Given the description of an element on the screen output the (x, y) to click on. 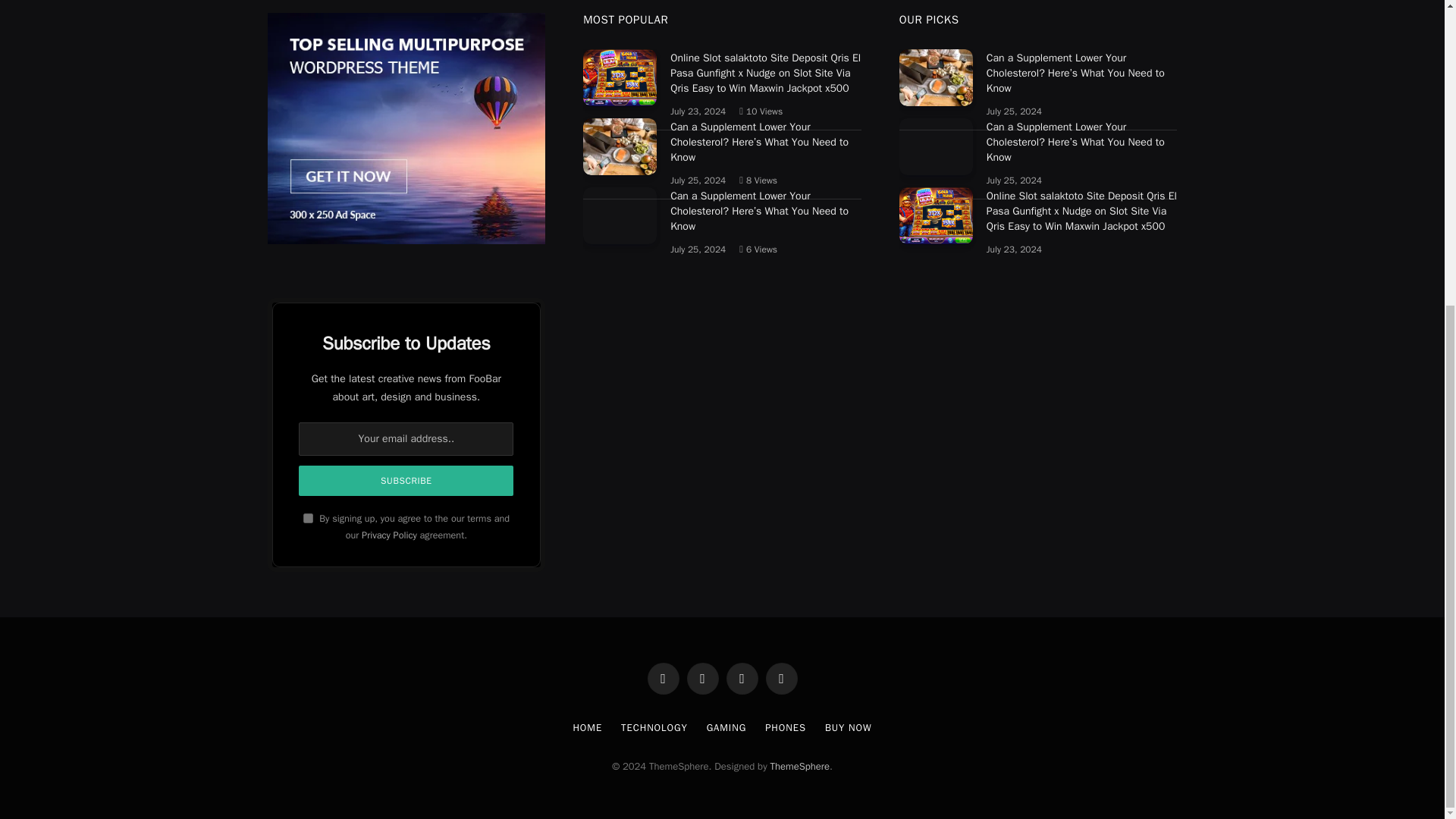
Subscribe (405, 481)
on (307, 518)
10 Article Views (761, 111)
